Given the description of an element on the screen output the (x, y) to click on. 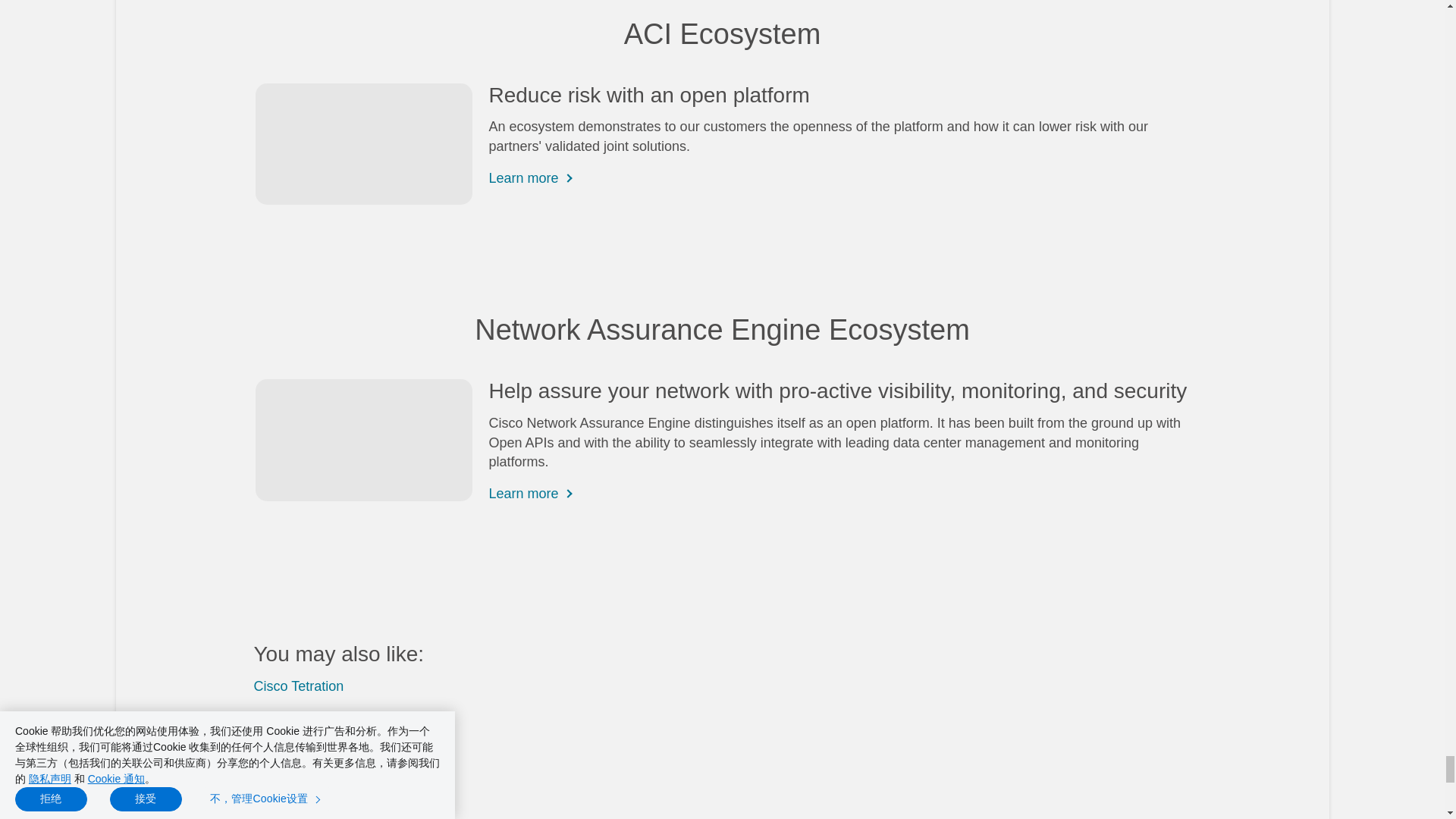
Cisco Tetration (298, 685)
Learn more (522, 491)
AR75695-600x400 (362, 144)
Learn more (522, 176)
Network Assurance (362, 440)
Cisco Network Assurance Engine (353, 716)
Cisco CloudCenter (310, 747)
